Given the description of an element on the screen output the (x, y) to click on. 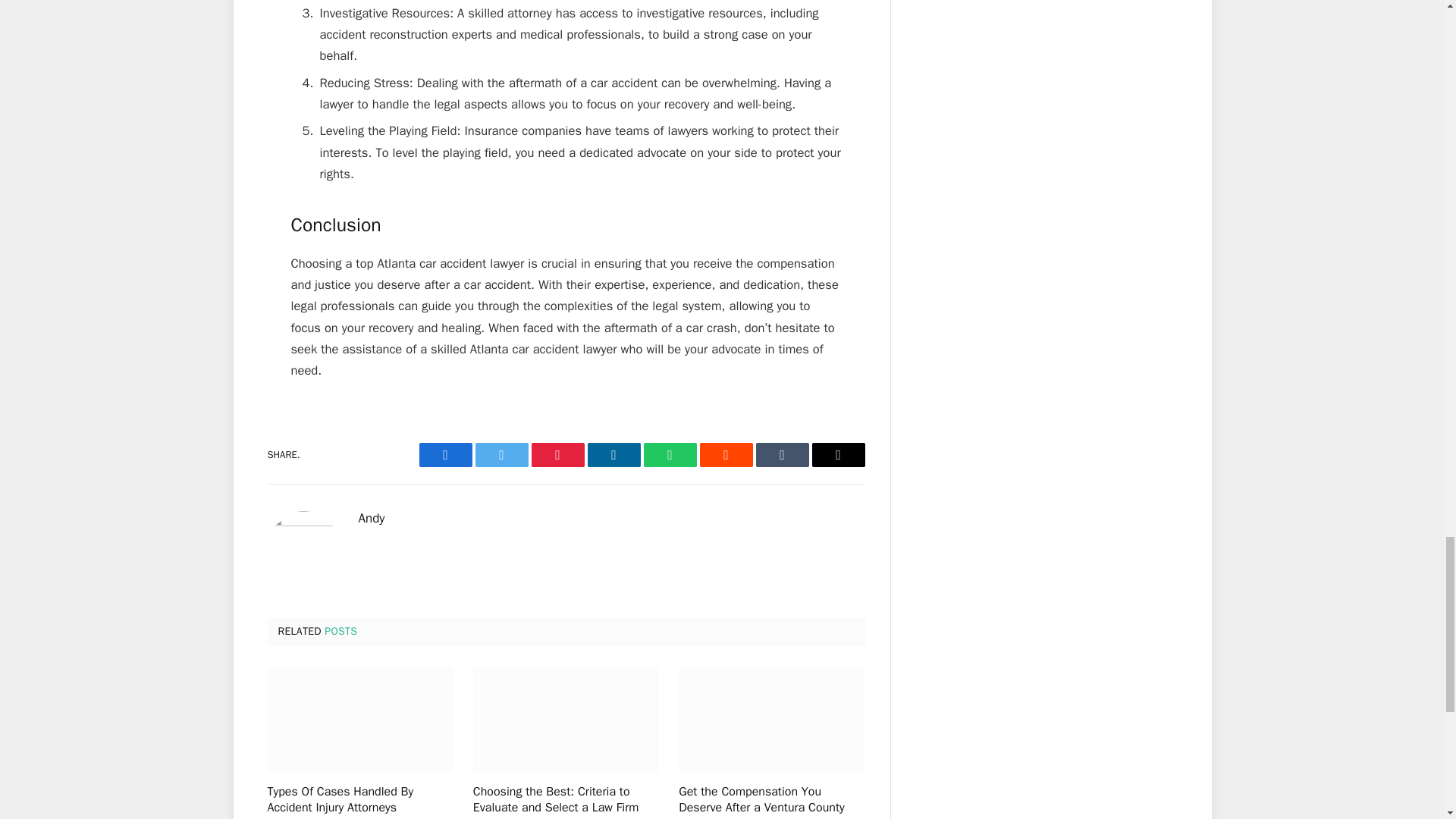
Facebook (445, 454)
Twitter (500, 454)
Pinterest (557, 454)
Share on Facebook (445, 454)
LinkedIn (613, 454)
